Given the description of an element on the screen output the (x, y) to click on. 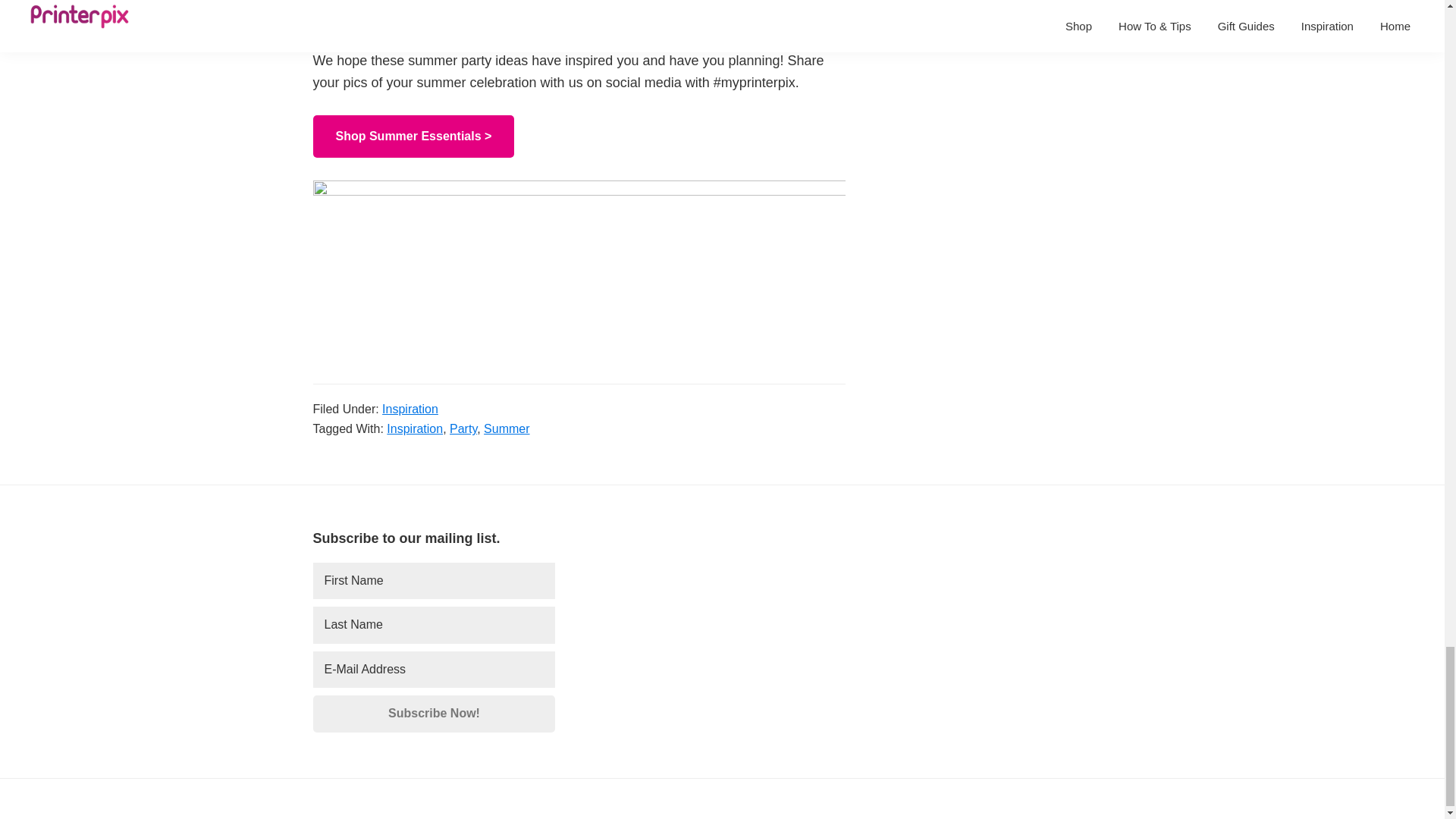
Inspiration (409, 408)
Inspiration (414, 428)
Subscribe Now! (433, 713)
Party (463, 428)
Summer (506, 428)
